Given the description of an element on the screen output the (x, y) to click on. 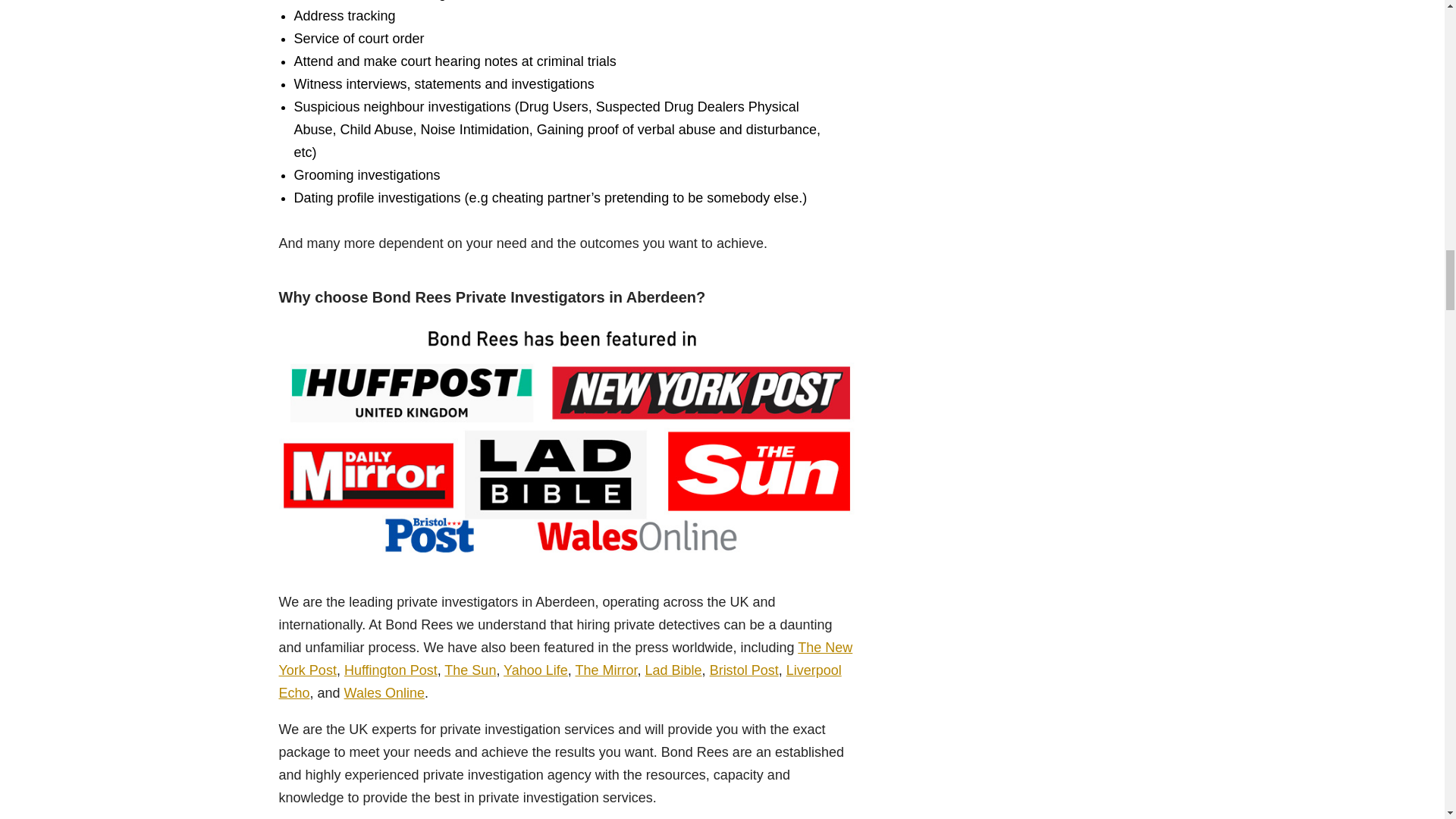
The Mirror (606, 670)
Liverpool Echo (560, 681)
Bristol Post (744, 670)
The New York Post (566, 658)
Yahoo Life (535, 670)
The Sun (470, 670)
Huffington Post (390, 670)
Lad Bible (673, 670)
